Given the description of an element on the screen output the (x, y) to click on. 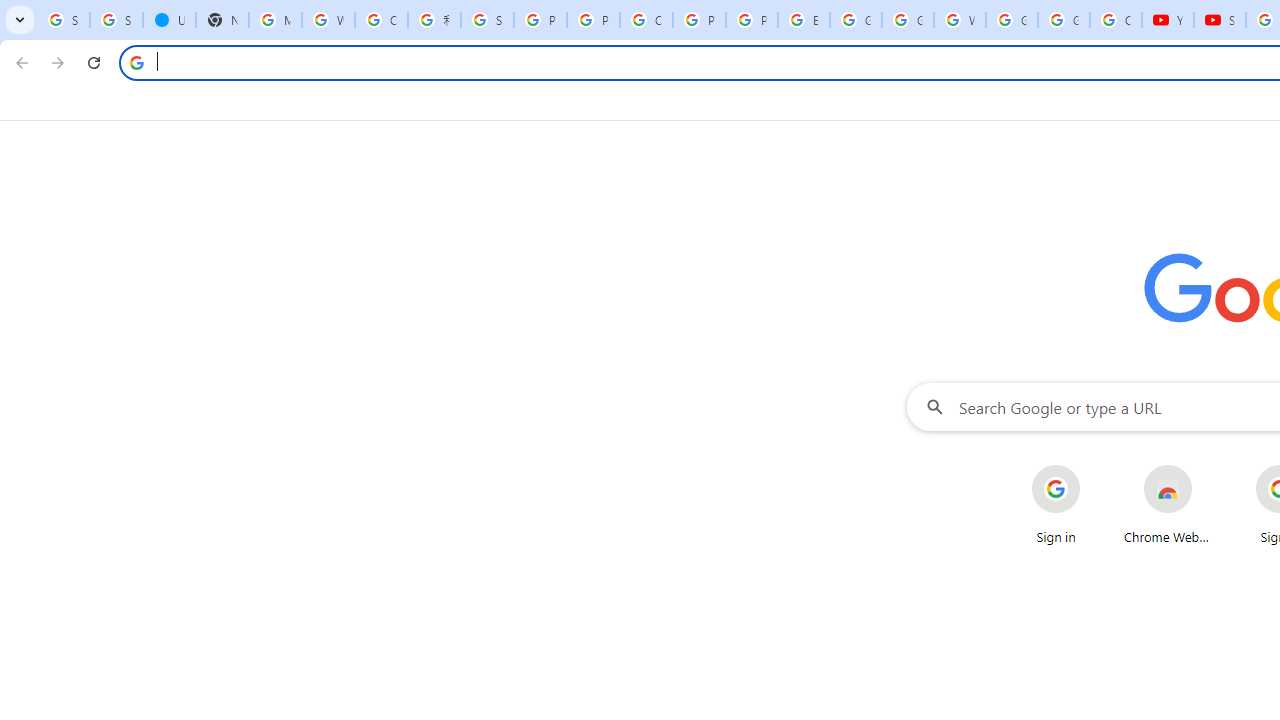
Create your Google Account (646, 20)
YouTube (1167, 20)
Google Slides: Sign-in (855, 20)
New Tab (222, 20)
Sign in - Google Accounts (63, 20)
Welcome to My Activity (959, 20)
USA TODAY (169, 20)
Search icon (136, 62)
Google Account (1064, 20)
